Given the description of an element on the screen output the (x, y) to click on. 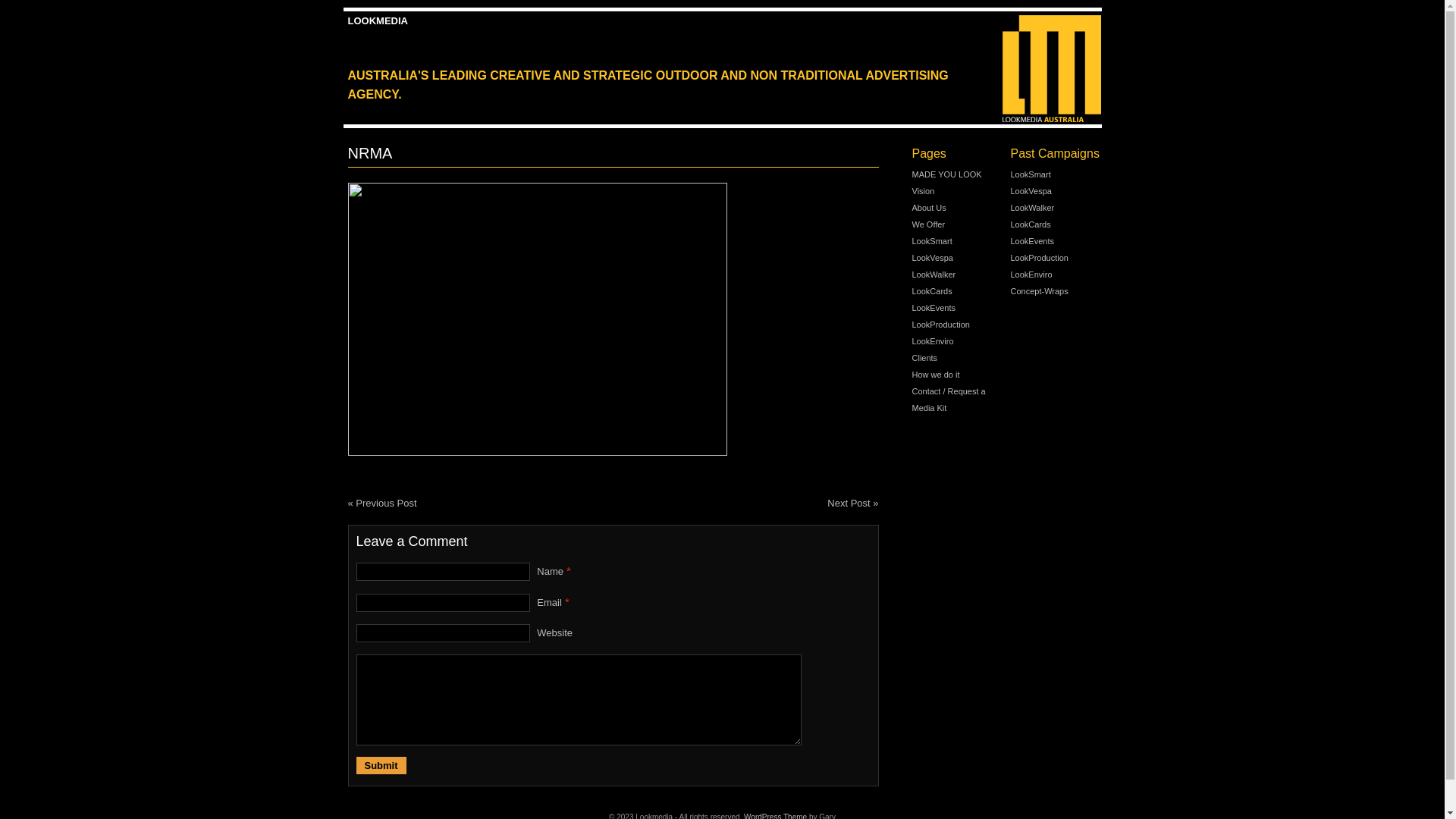
Clients Element type: text (924, 357)
About Us Element type: text (928, 207)
Vision Element type: text (922, 190)
Concept-Wraps Element type: text (1038, 290)
LookSmart Element type: text (931, 240)
LookSmart Element type: text (1030, 173)
How we do it Element type: text (935, 374)
Lookmedia Element type: hover (1051, 68)
Contact / Request a Media Kit Element type: text (948, 399)
LookWalker Element type: text (933, 274)
LookEnviro Element type: text (932, 340)
LookCards Element type: text (1030, 224)
LookEvents Element type: text (1031, 240)
LookEvents Element type: text (932, 307)
NRMA Element type: hover (536, 318)
LookProduction Element type: text (1038, 257)
LookEnviro Element type: text (1030, 274)
LookVespa Element type: text (1030, 190)
LOOKMEDIA Element type: text (377, 20)
LookProduction Element type: text (940, 324)
LookWalker Element type: text (1032, 207)
LookVespa Element type: text (931, 257)
We Offer Element type: text (927, 224)
LookCards Element type: text (931, 290)
MADE YOU LOOK Element type: text (946, 173)
Submit Element type: text (381, 765)
